Given the description of an element on the screen output the (x, y) to click on. 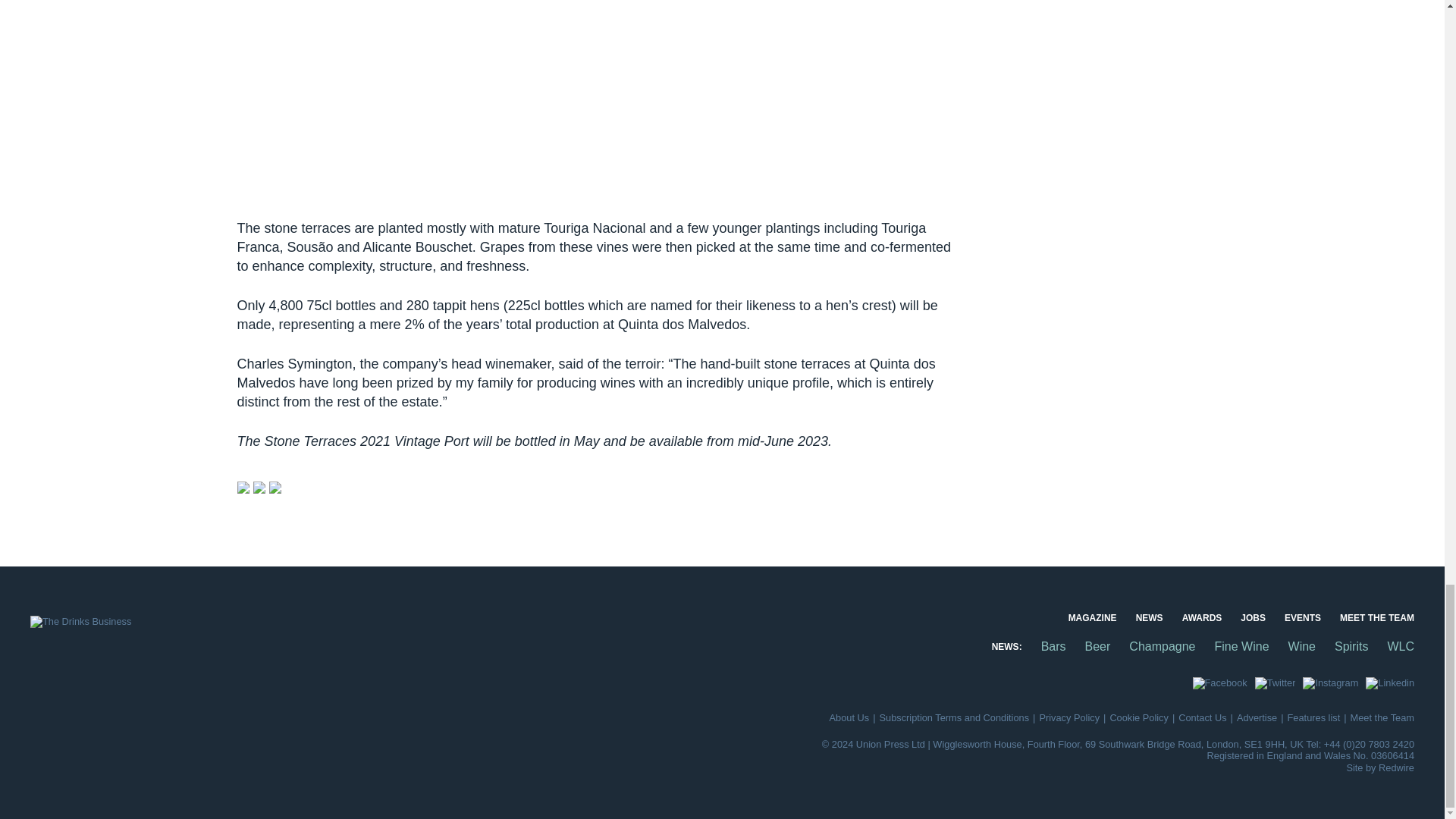
The Drinks Business (80, 621)
